Given the description of an element on the screen output the (x, y) to click on. 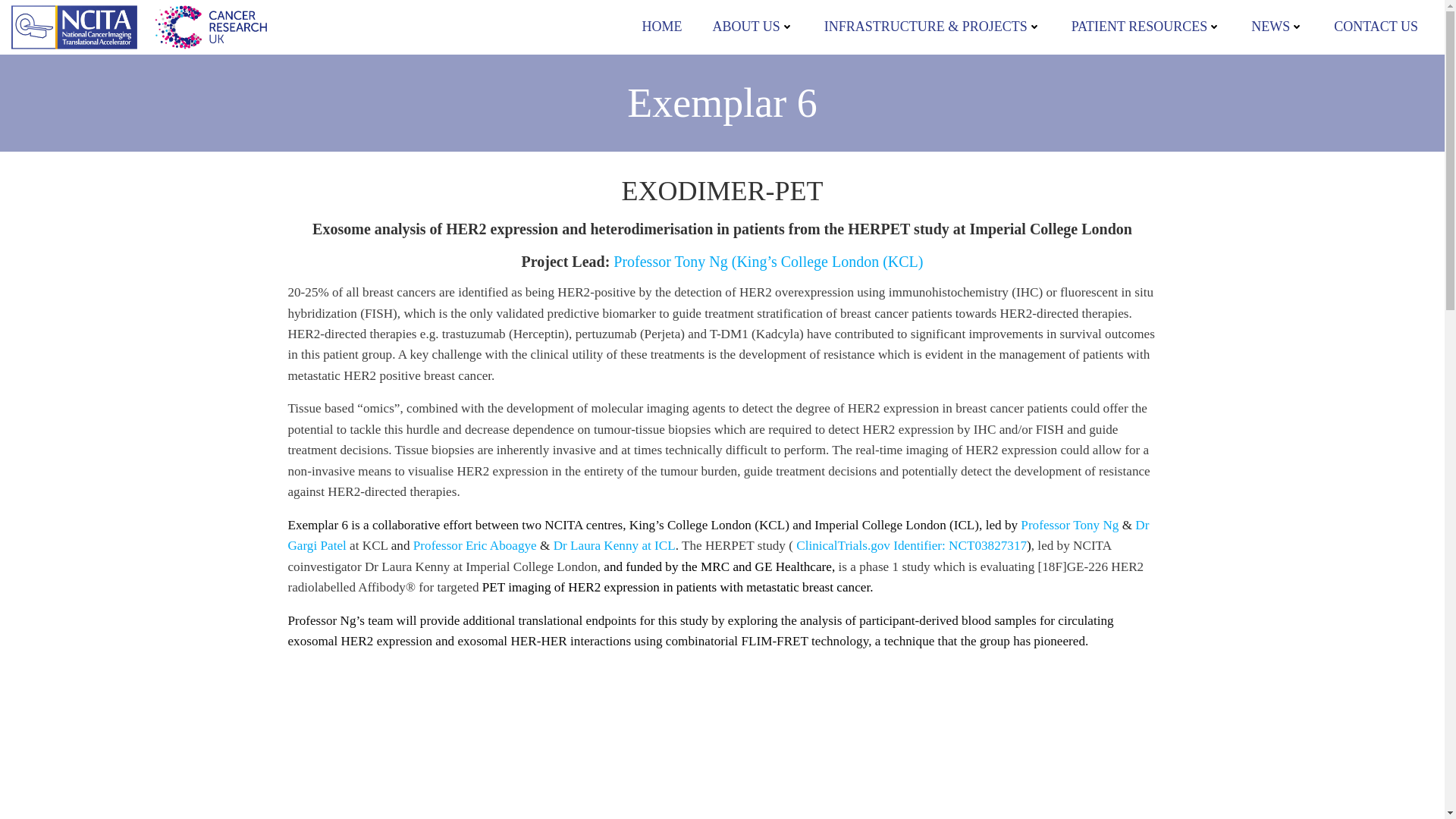
ABOUT US (752, 26)
CONTACT US (1375, 26)
HOME (661, 26)
NEWS (1276, 26)
PATIENT RESOURCES (1146, 26)
